Given the description of an element on the screen output the (x, y) to click on. 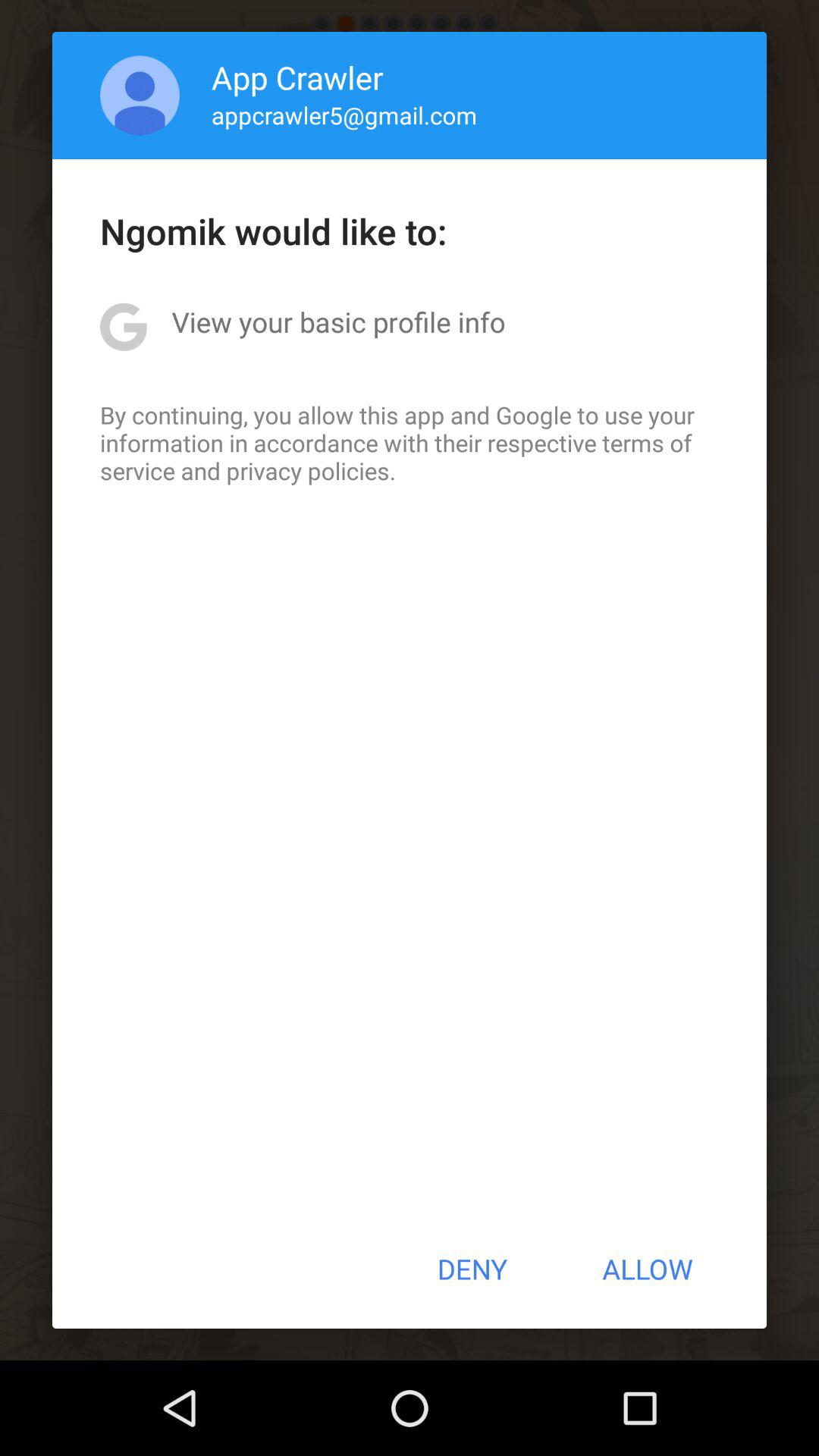
press the app crawler icon (297, 76)
